Given the description of an element on the screen output the (x, y) to click on. 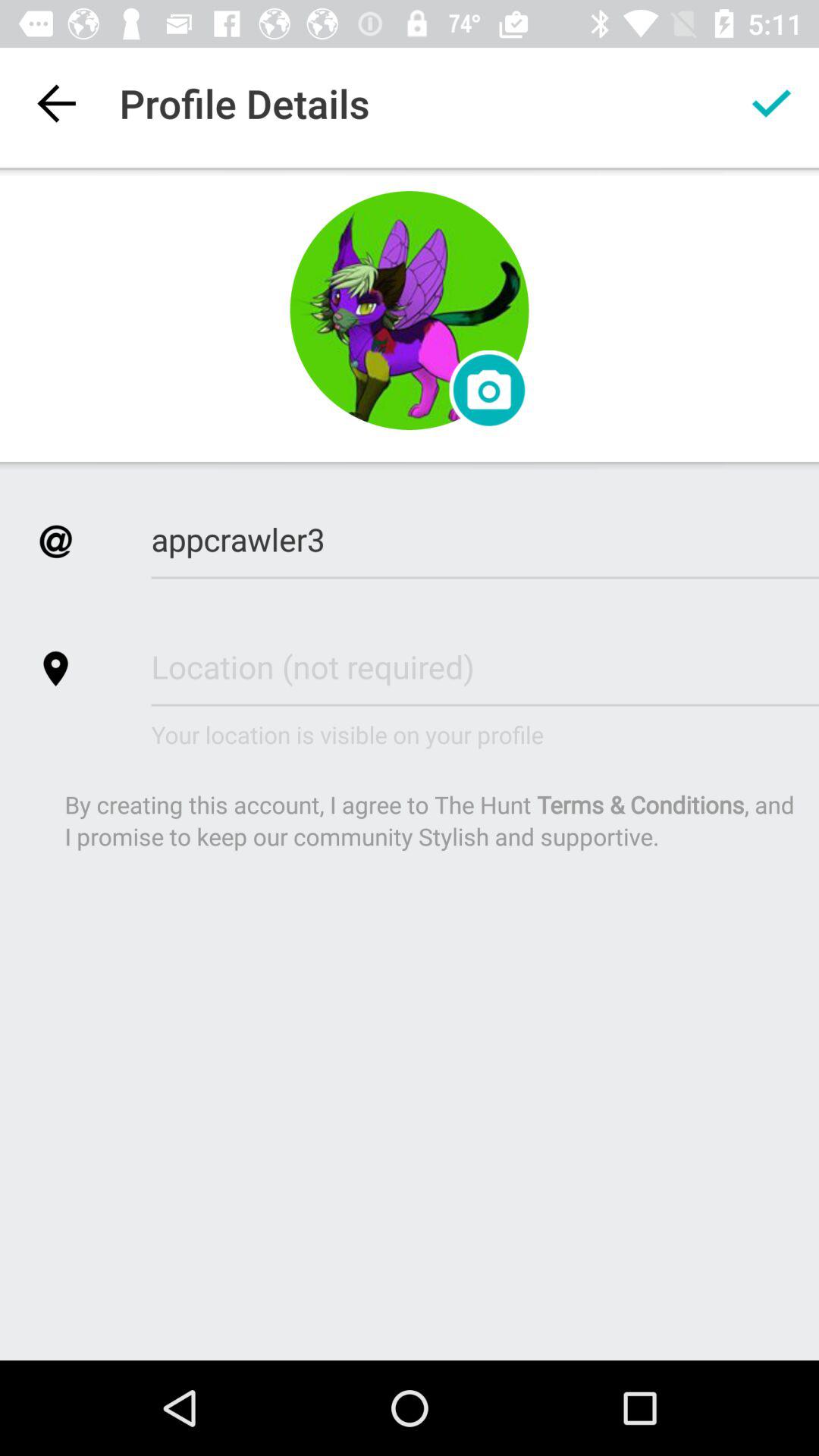
select profile picture (488, 389)
